Given the description of an element on the screen output the (x, y) to click on. 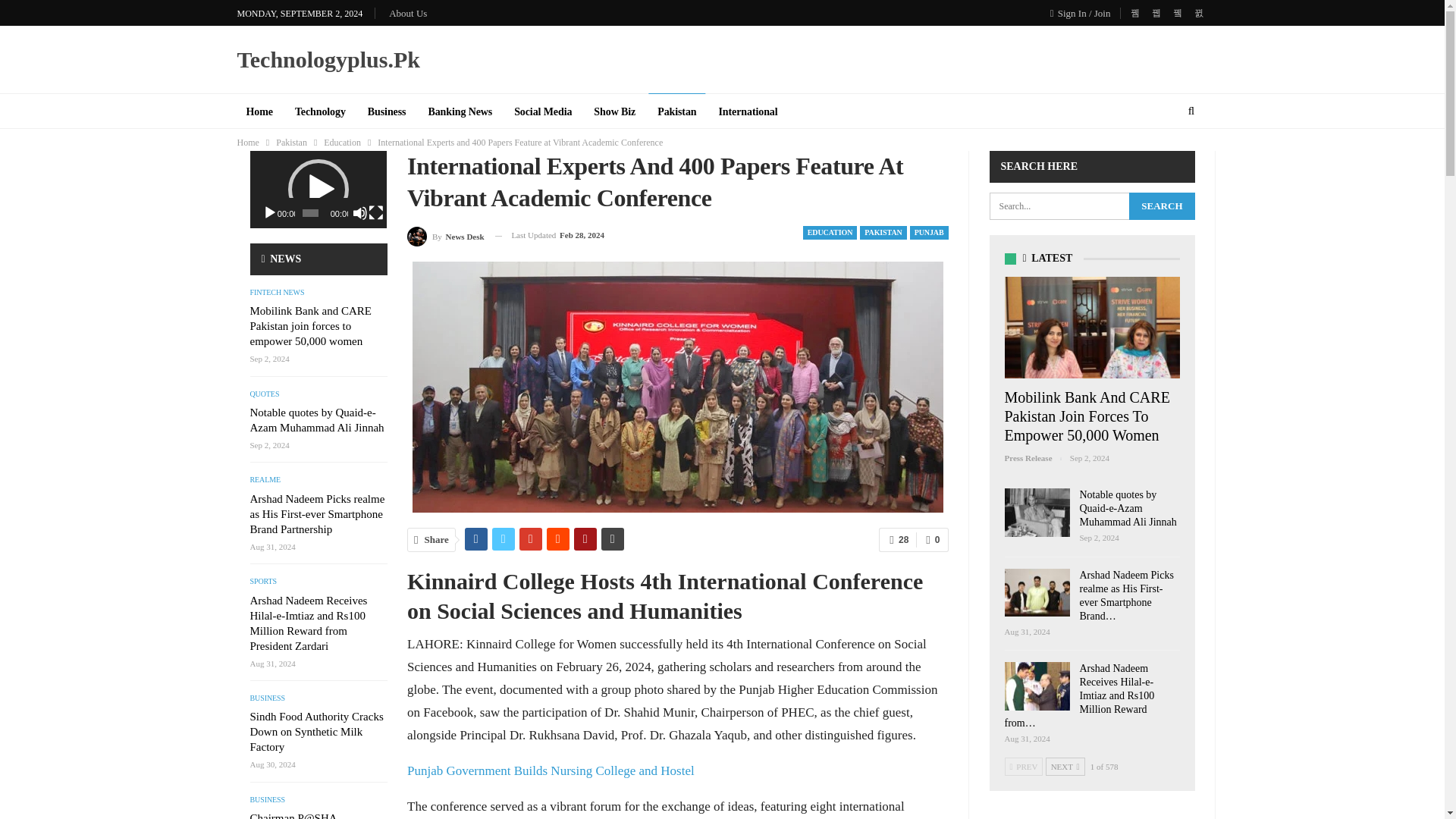
Technologyplus.Pk (327, 59)
EDUCATION (830, 232)
Banking News (459, 112)
Pakistan (291, 142)
PUNJAB (929, 232)
Pakistan (675, 112)
0 (931, 539)
International (748, 112)
Browse Author Articles (445, 235)
About Us (407, 12)
